Given the description of an element on the screen output the (x, y) to click on. 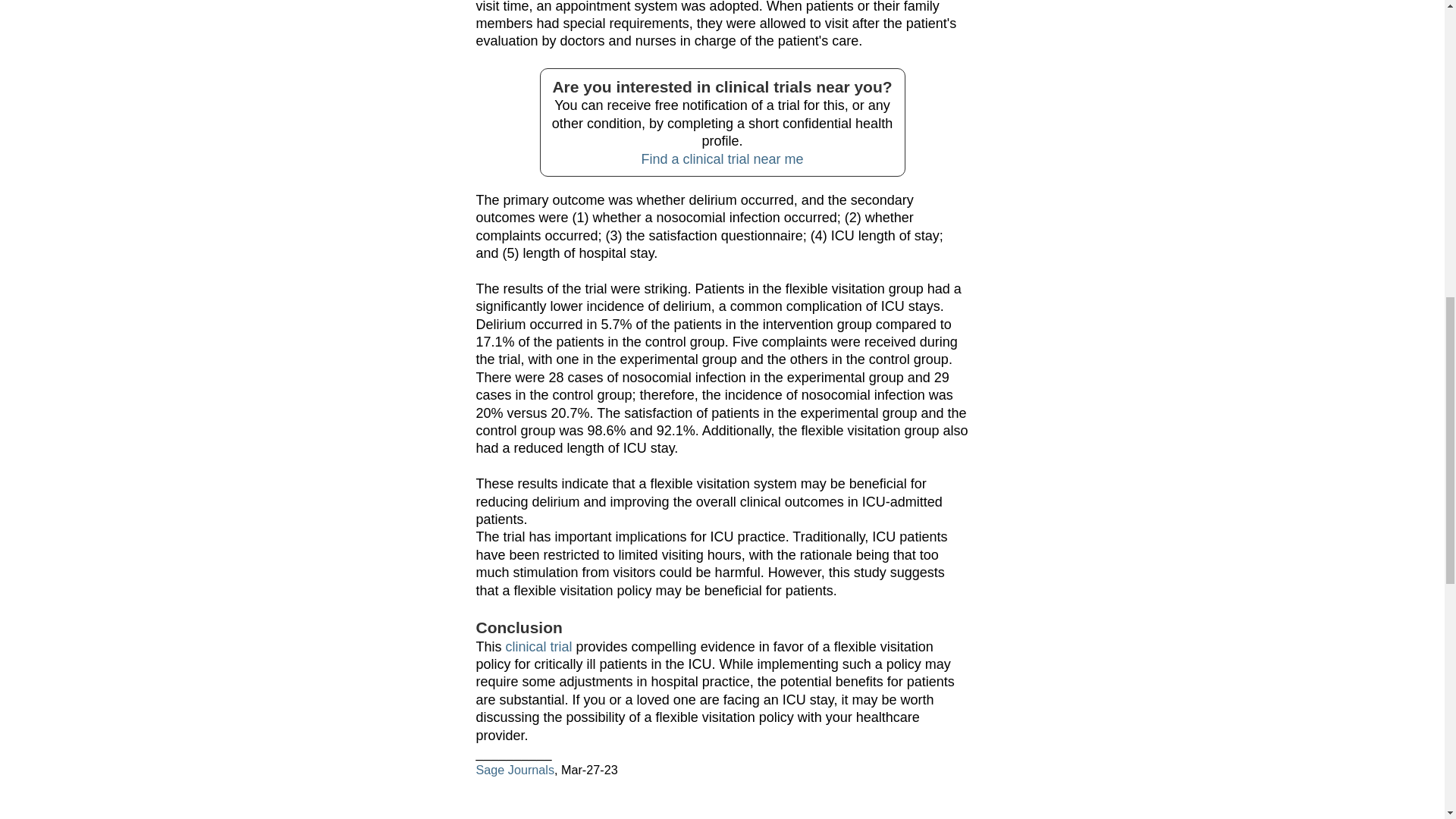
clinical trial (538, 646)
Find a clinical trial near me (721, 159)
Sage Journals (515, 769)
